Given the description of an element on the screen output the (x, y) to click on. 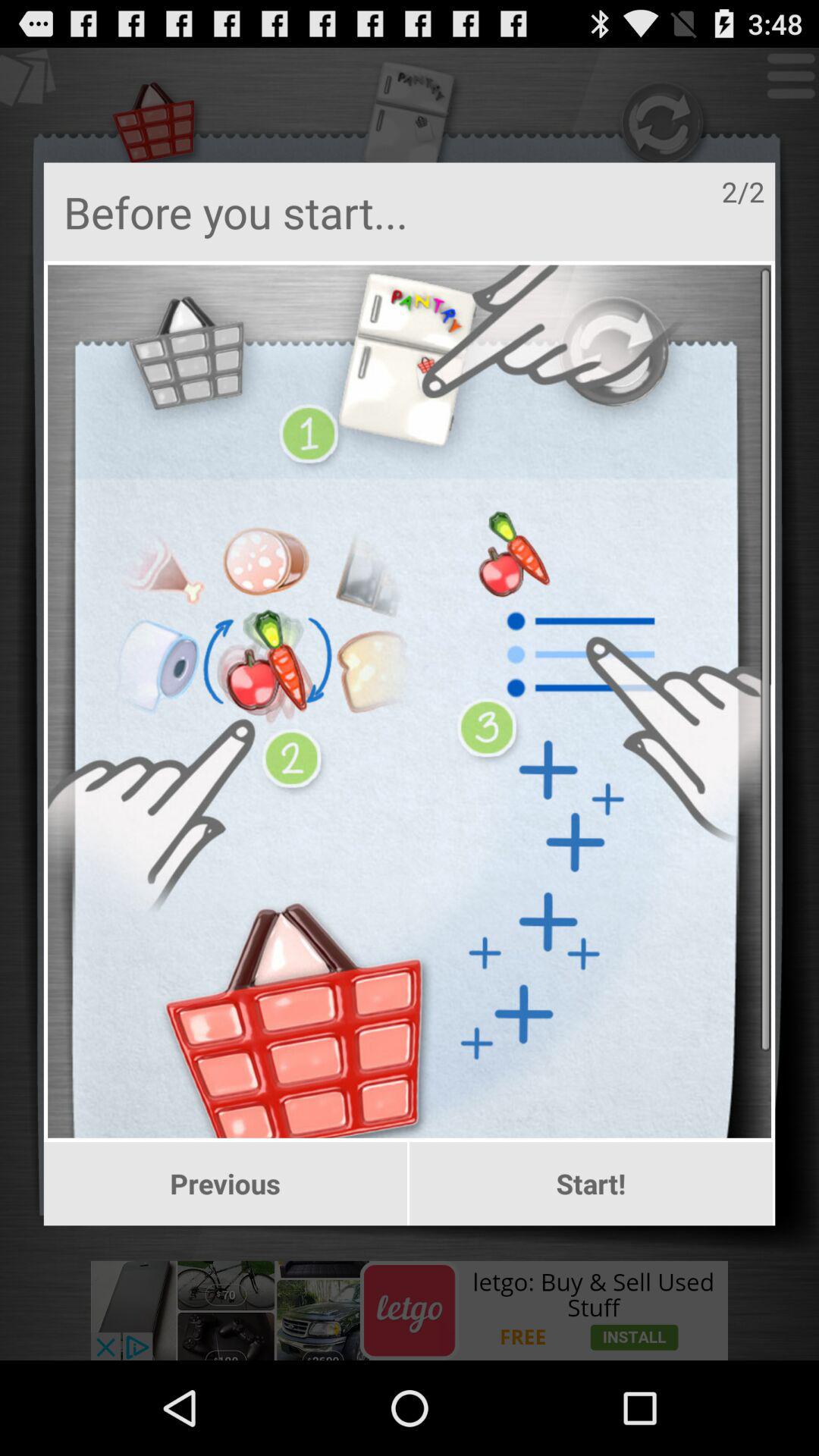
scroll to the start! item (590, 1183)
